Given the description of an element on the screen output the (x, y) to click on. 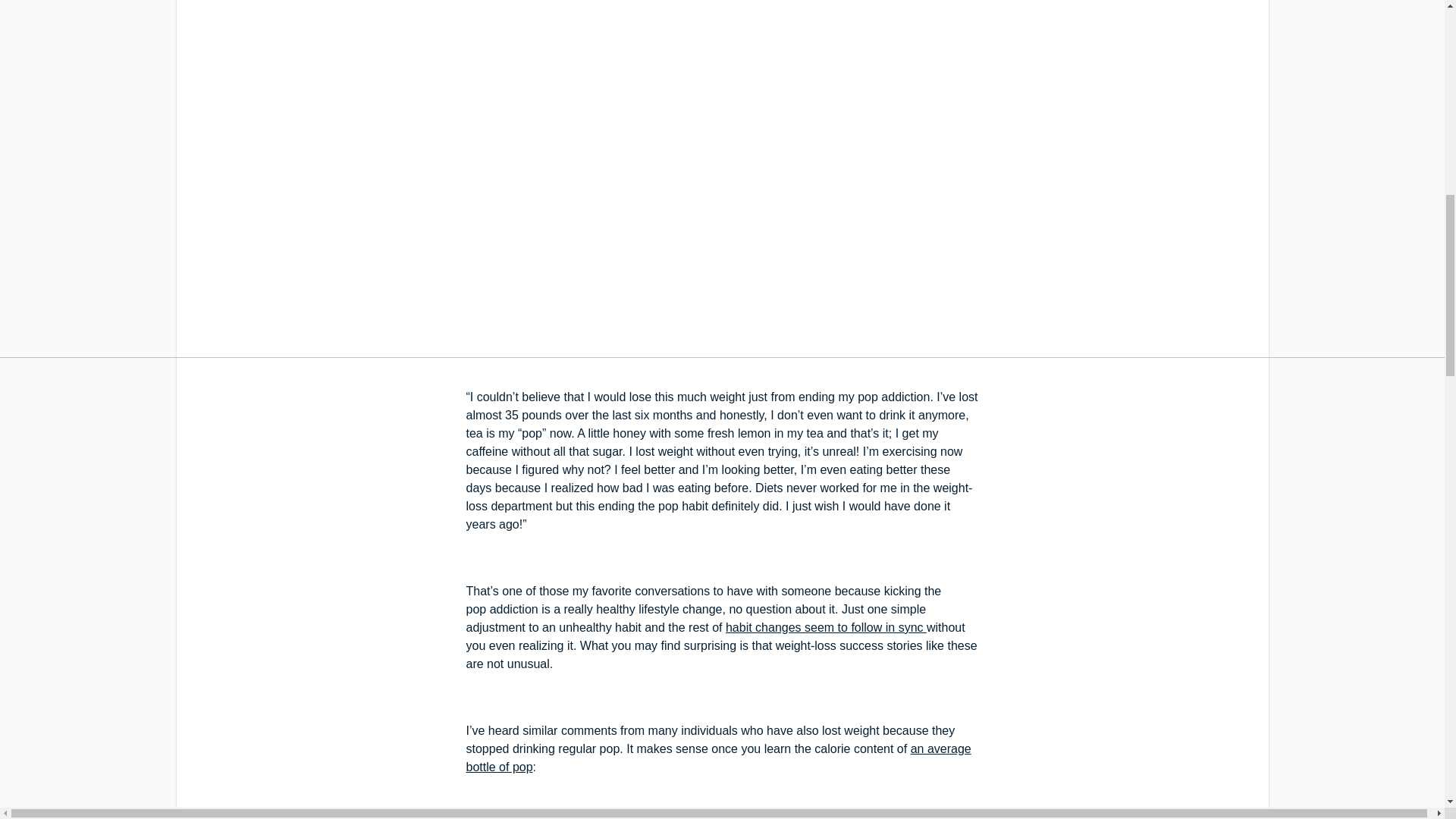
an average bottle of pop (718, 757)
habit changes seem to follow in sync (825, 626)
